Given the description of an element on the screen output the (x, y) to click on. 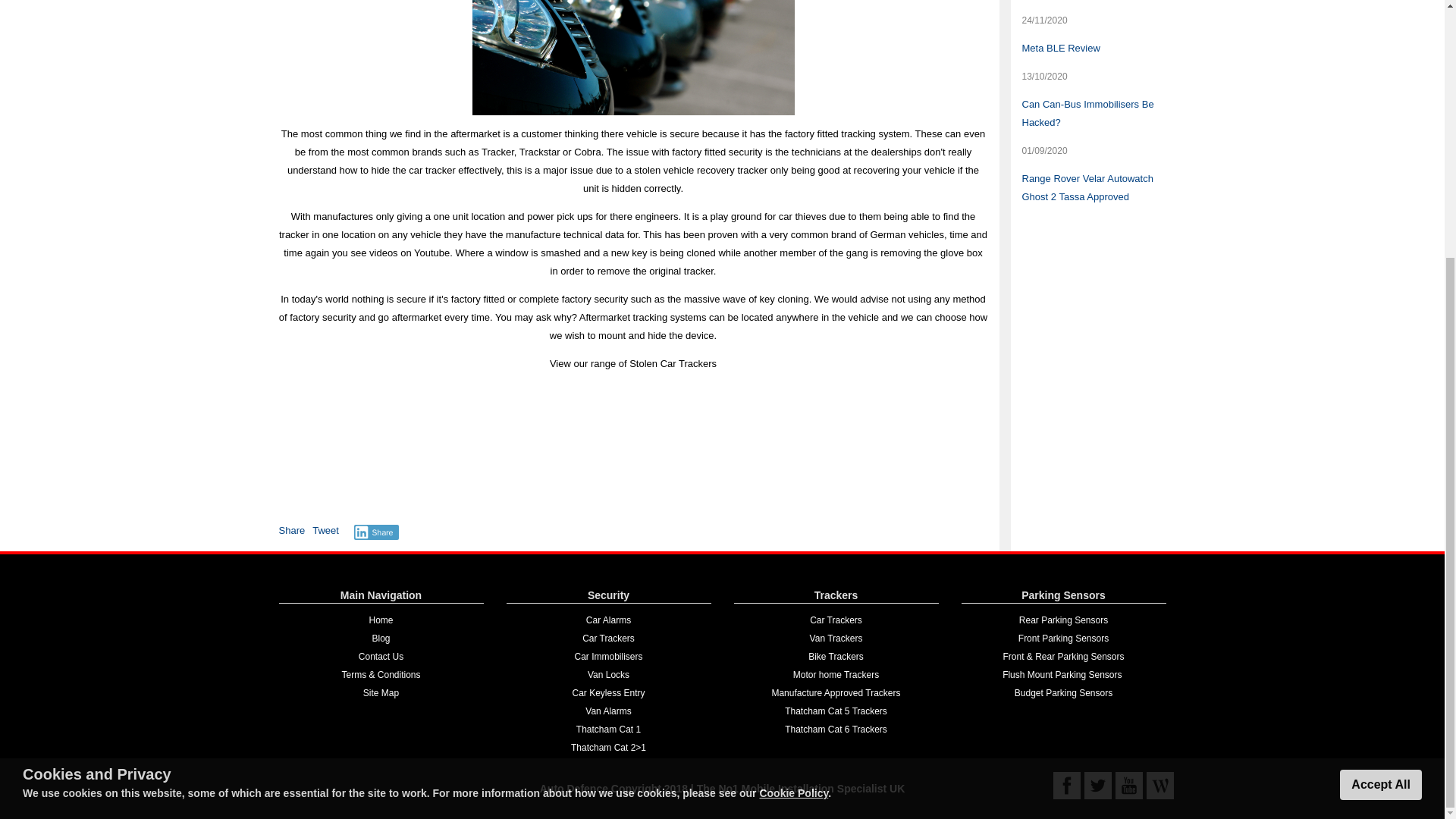
Manufacture Approved Trackers (835, 692)
Thatcham Cat 5 Trackers (835, 710)
Car Immobilisers (607, 656)
Site Map (380, 692)
Van Trackers (836, 638)
Range Rover Velar Autowatch Ghost 2 Tassa Approved (1087, 187)
Thatcham Cat 6 Trackers (835, 728)
Motor home Trackers (836, 674)
Blog (380, 638)
Home (380, 620)
Contact Us (380, 656)
Front Parking Sensors (1062, 638)
Car Alarms (608, 620)
Share (292, 530)
Rear Parking Sensors (1063, 620)
